Given the description of an element on the screen output the (x, y) to click on. 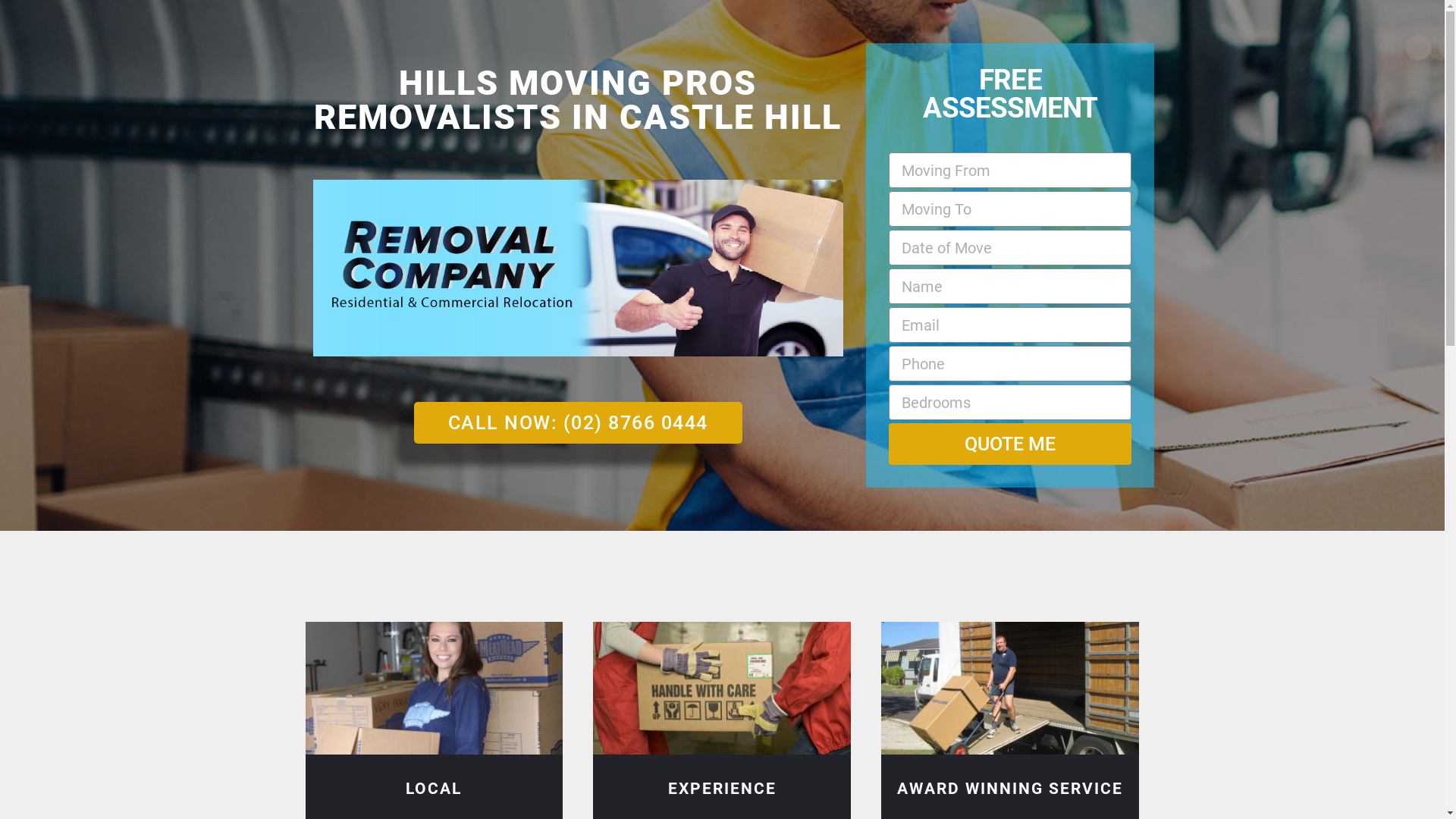
Experienced Removalists Castle Hill Element type: hover (721, 687)
CALL NOW: (02) 8766 0444 Element type: text (578, 422)
QUOTE ME Element type: text (1009, 443)
Award Winning Castle Hill Removal Services Element type: hover (1010, 687)
Local Removalists Castle Hill Element type: hover (433, 687)
